Given the description of an element on the screen output the (x, y) to click on. 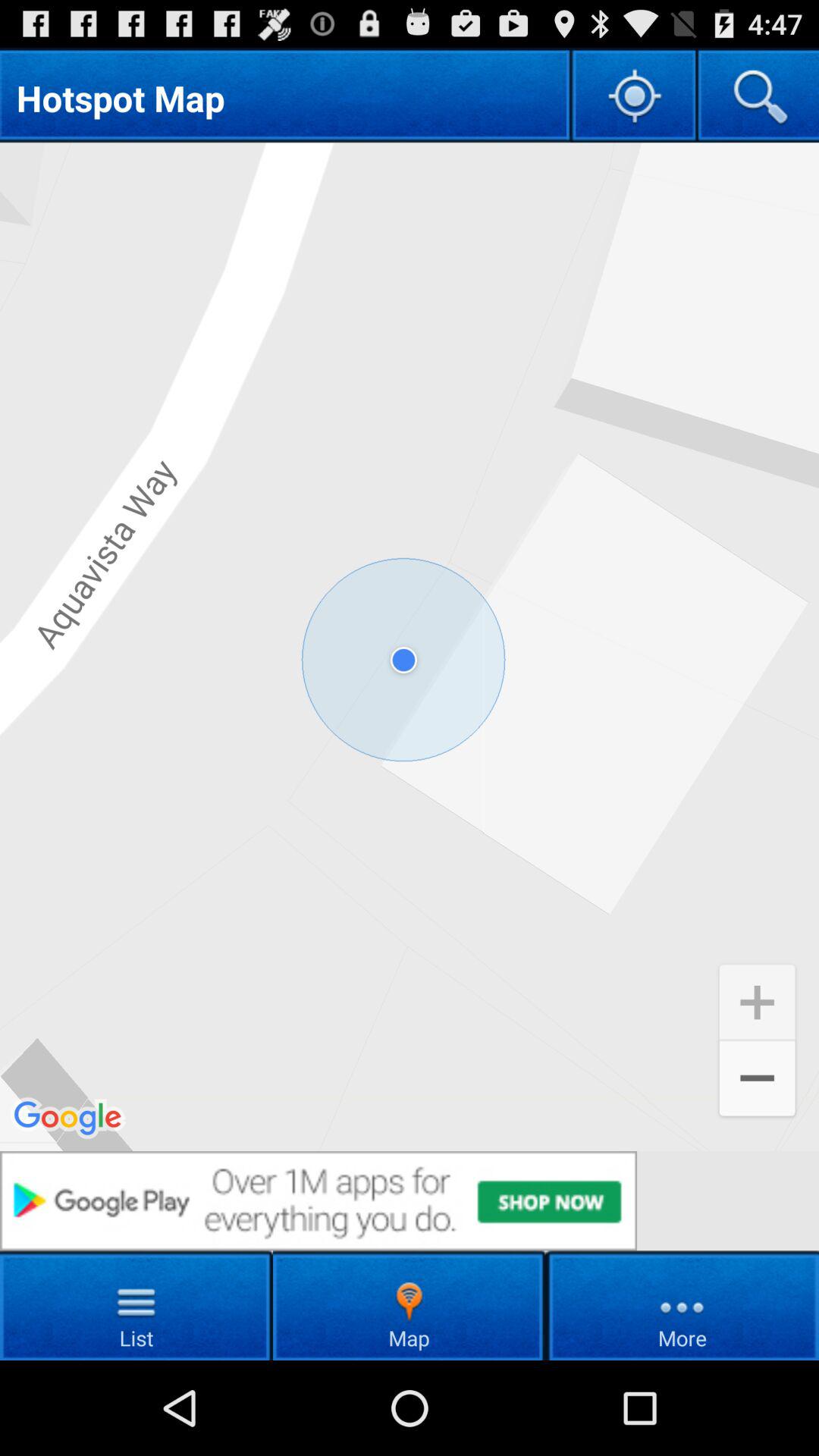
launch advertisement link (409, 1200)
